Given the description of an element on the screen output the (x, y) to click on. 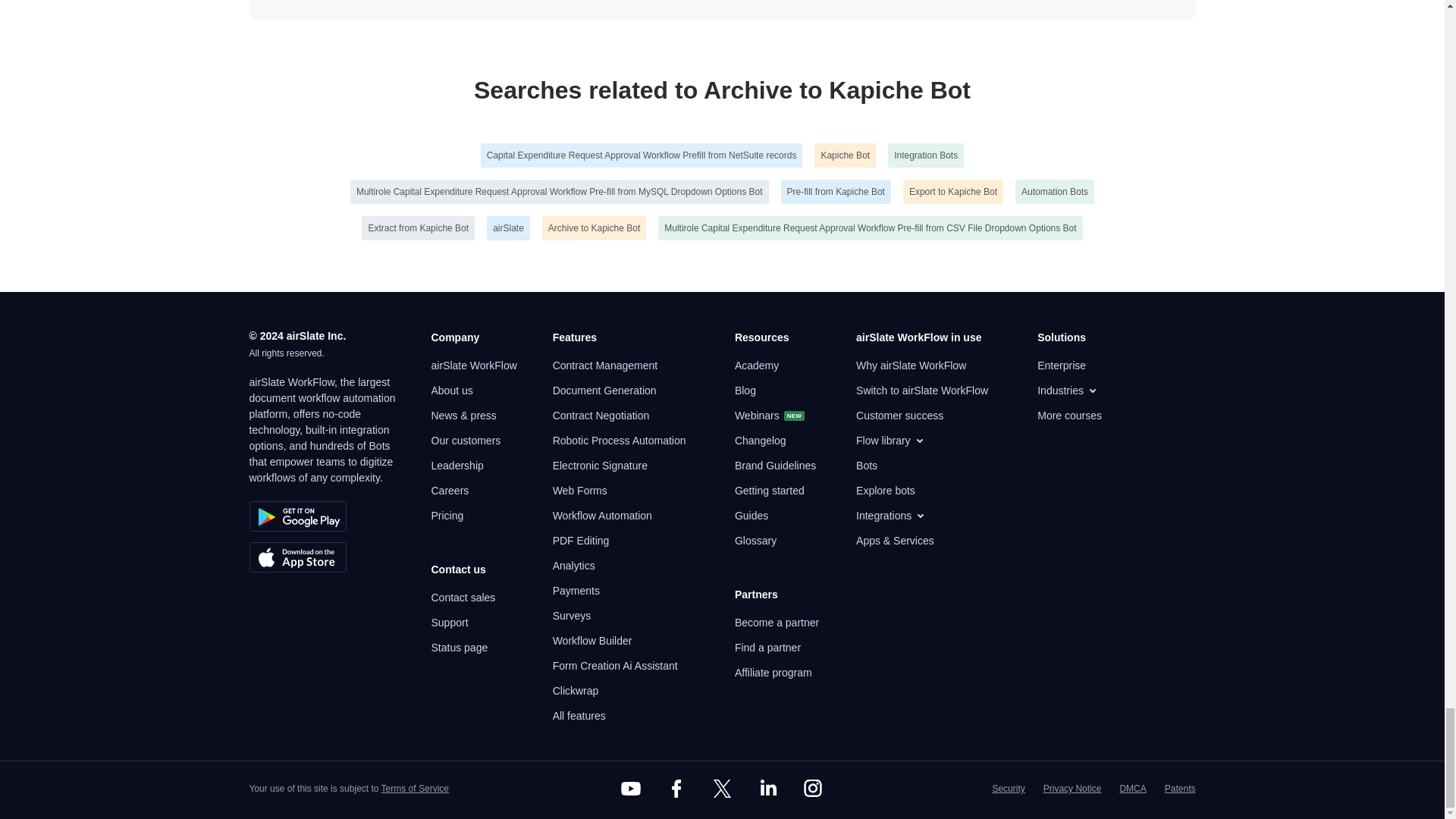
Facebook (676, 788)
LinkedIn (767, 788)
Instagram (812, 788)
YouTube (630, 788)
Twitter (721, 788)
